Given the description of an element on the screen output the (x, y) to click on. 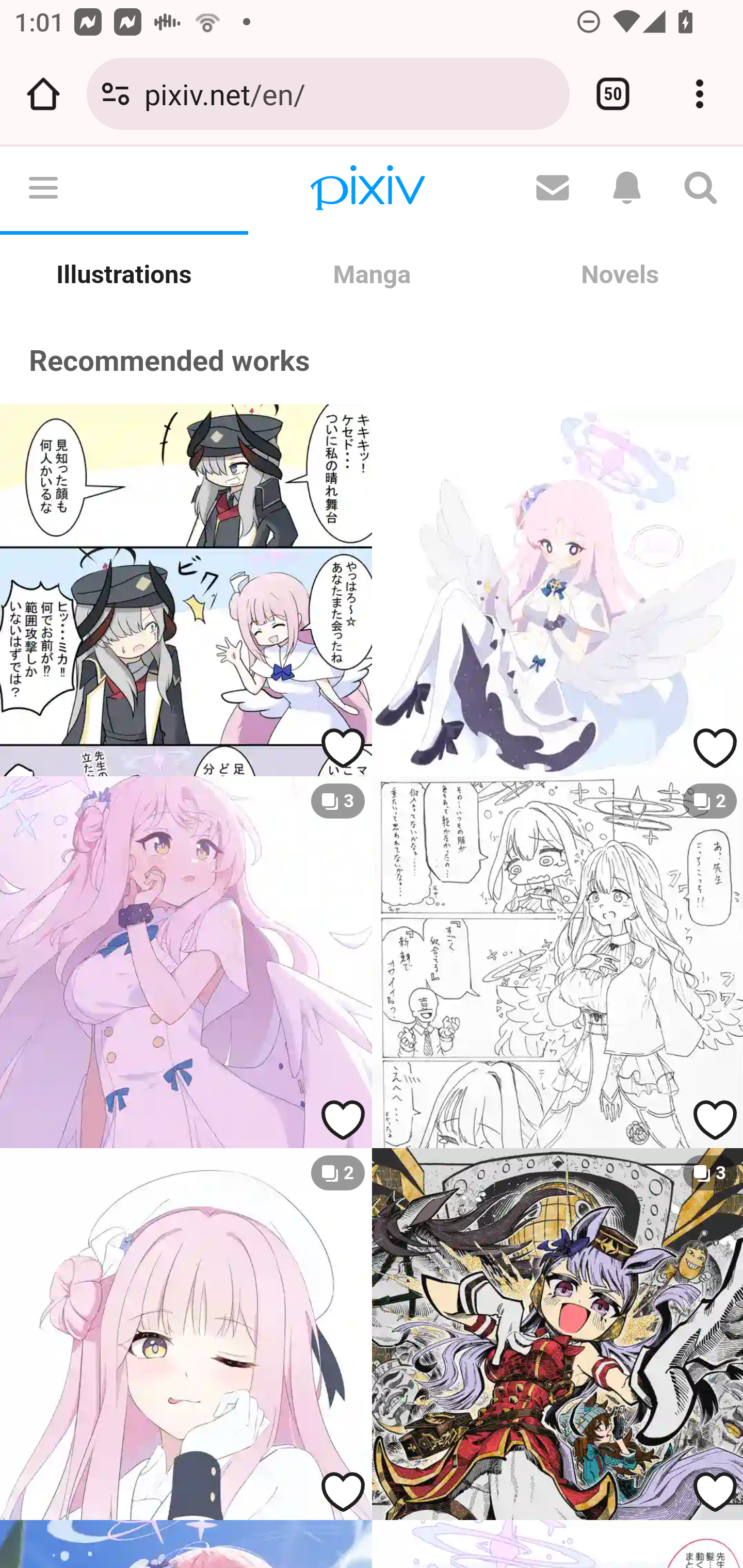
Open the home page (43, 93)
Connection is secure (115, 93)
Switch or close tabs (612, 93)
Customize and control Google Chrome (699, 93)
pixiv.net/en/ (349, 92)
pixiv (366, 188)
messages (552, 188)
notify_all (626, 188)
Illustrations (124, 274)
Manga (371, 274)
Novels (618, 274)
